Given the description of an element on the screen output the (x, y) to click on. 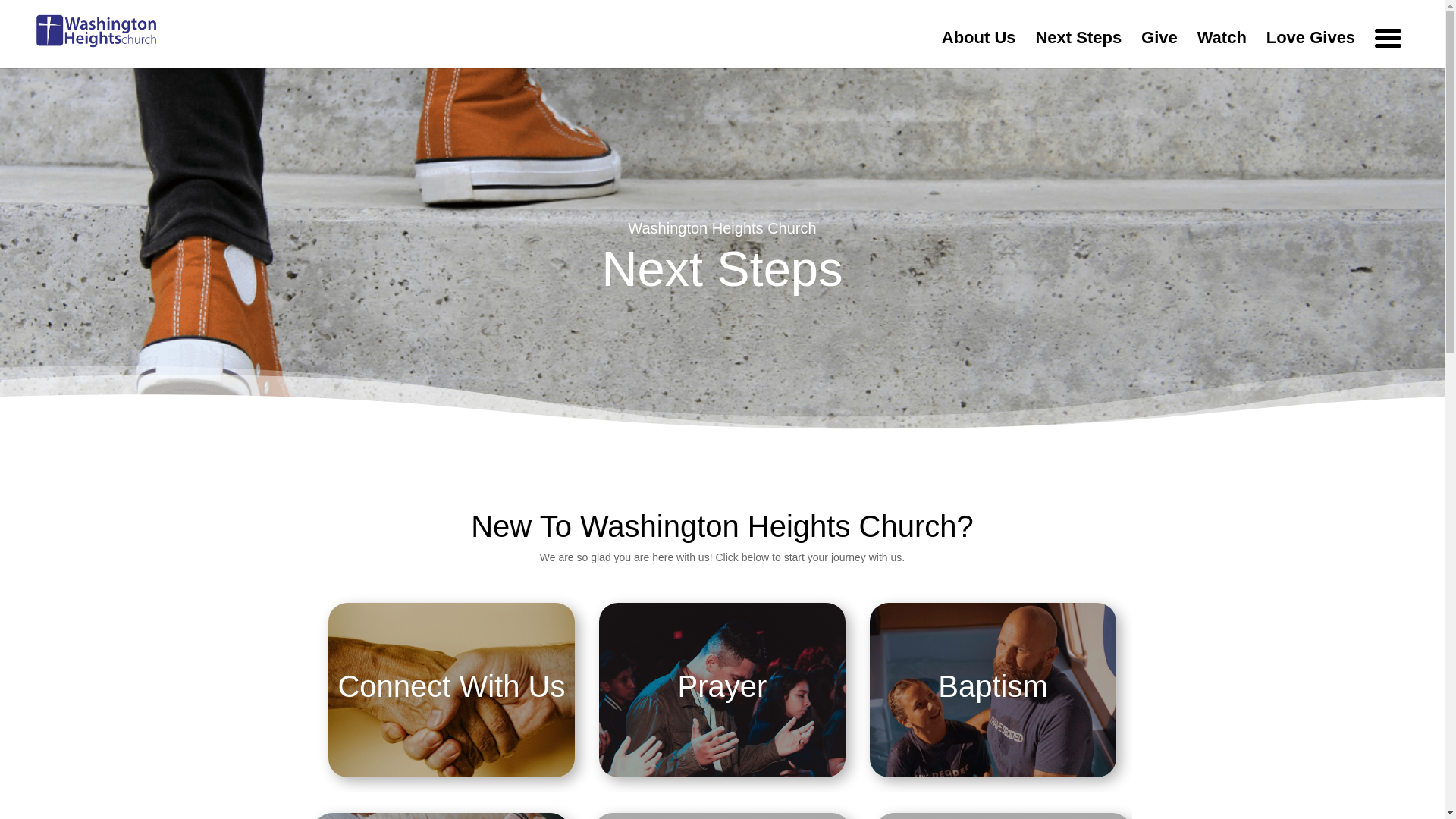
Watch (1221, 49)
Love Gives (1310, 49)
Next Steps (1078, 49)
About Us (979, 49)
Give (1159, 49)
Search (1010, 124)
